Given the description of an element on the screen output the (x, y) to click on. 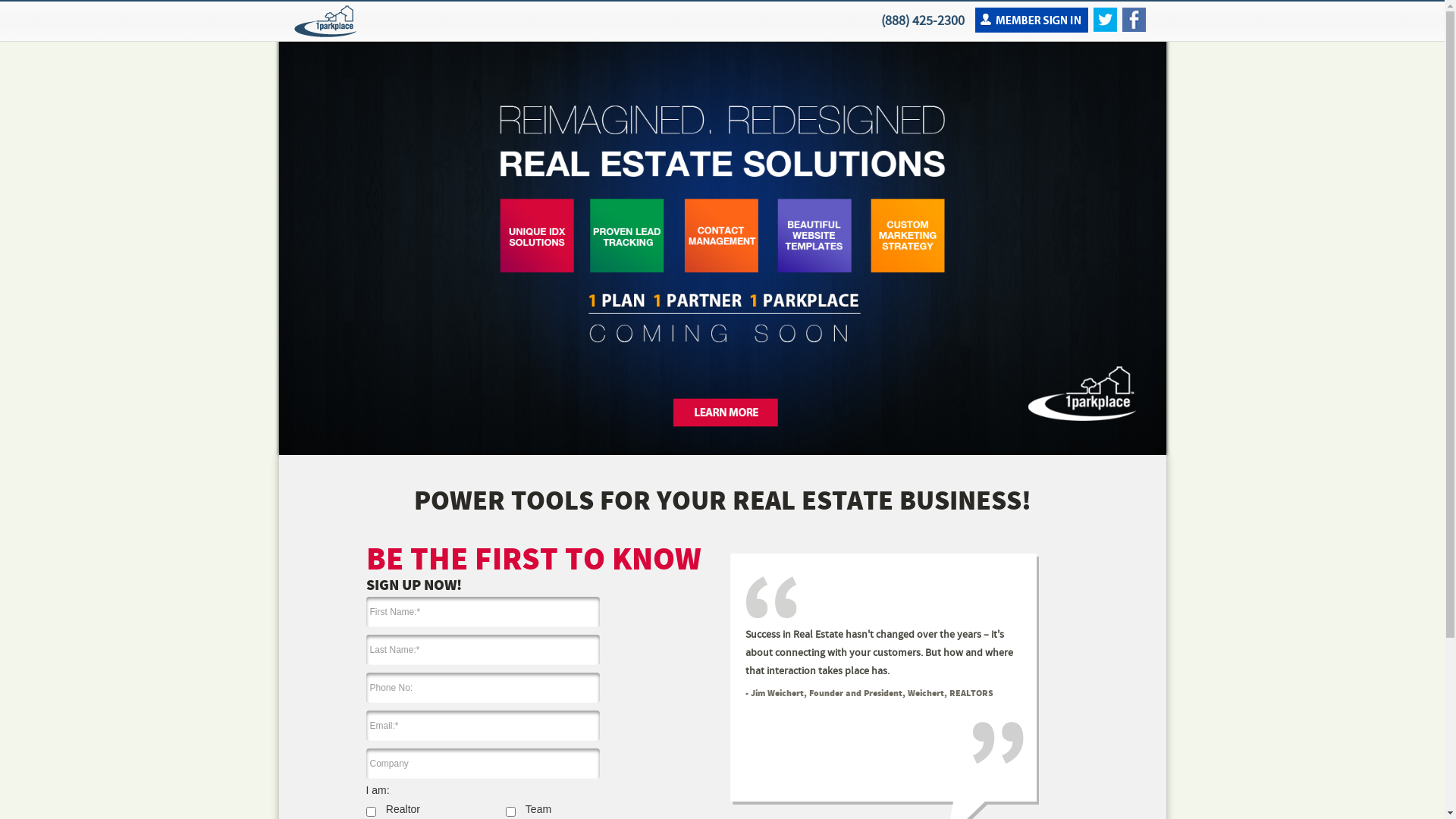
1ParkPlace Element type: text (325, 21)
